Given the description of an element on the screen output the (x, y) to click on. 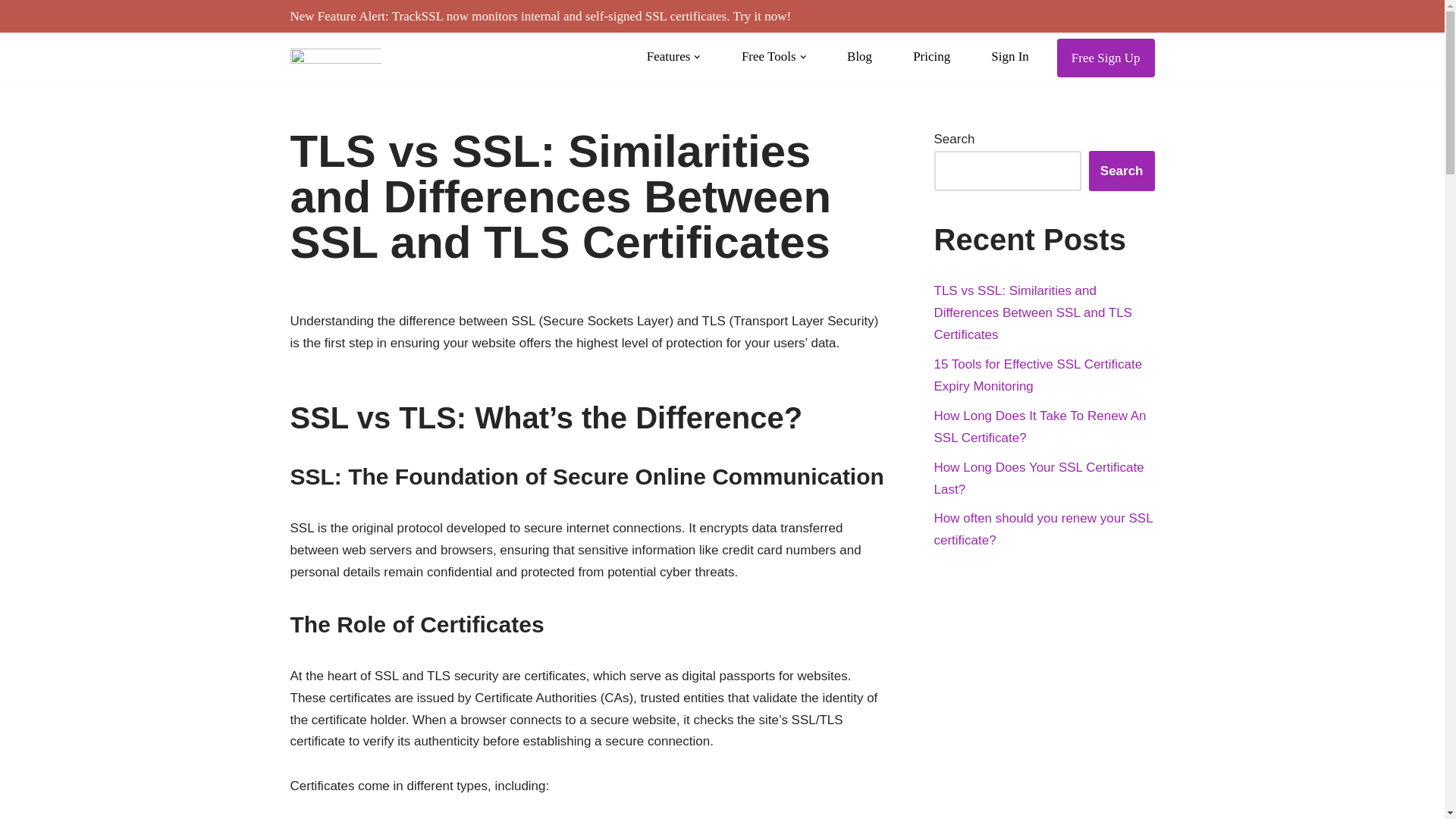
Sign In (1010, 55)
Features (673, 55)
TrackSSL (334, 57)
Pricing (931, 55)
Free Tools (773, 55)
Free Sign Up (1105, 57)
Blog (859, 55)
Skip to content (11, 31)
